Given the description of an element on the screen output the (x, y) to click on. 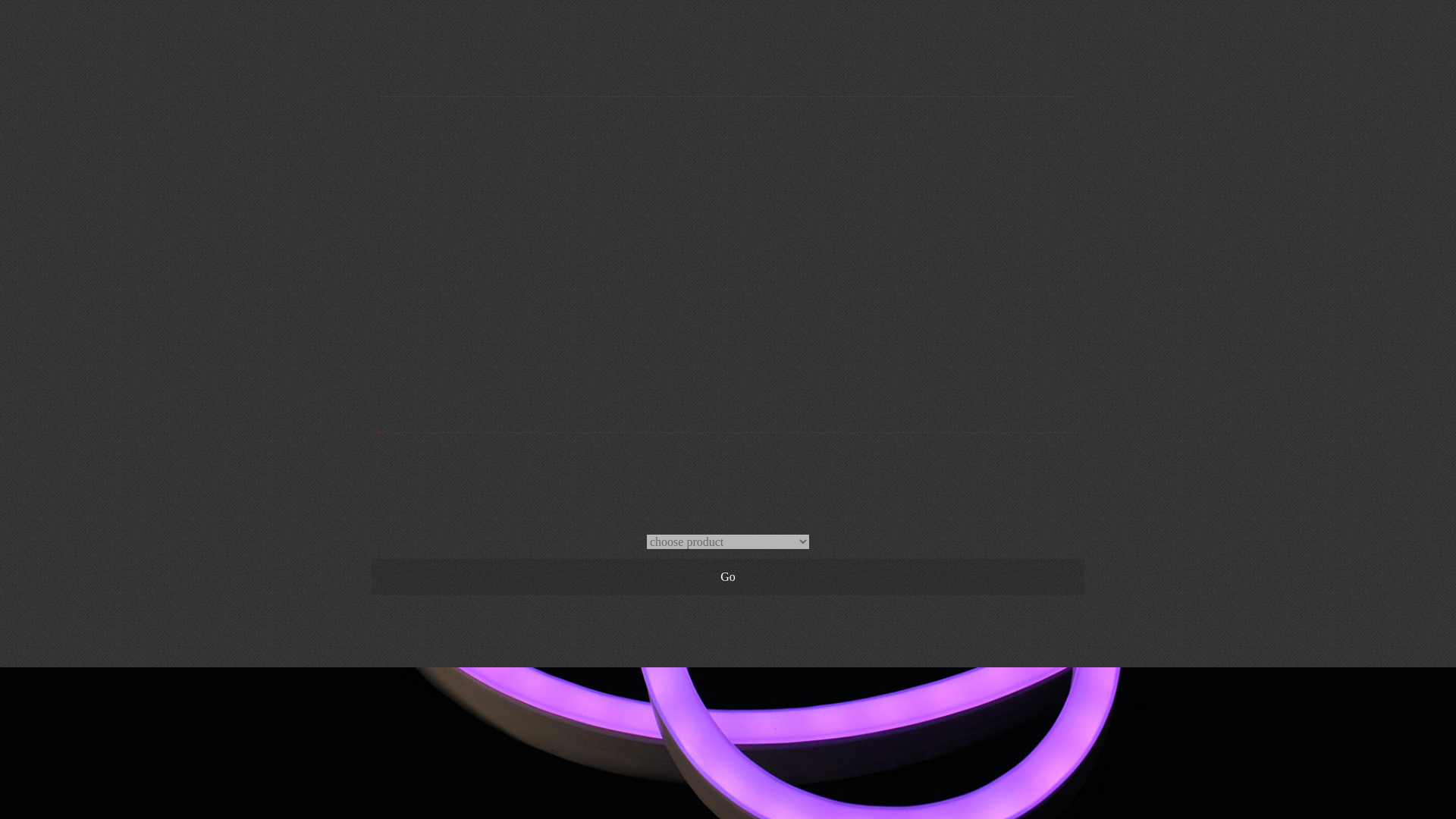
Go (727, 576)
